Given the description of an element on the screen output the (x, y) to click on. 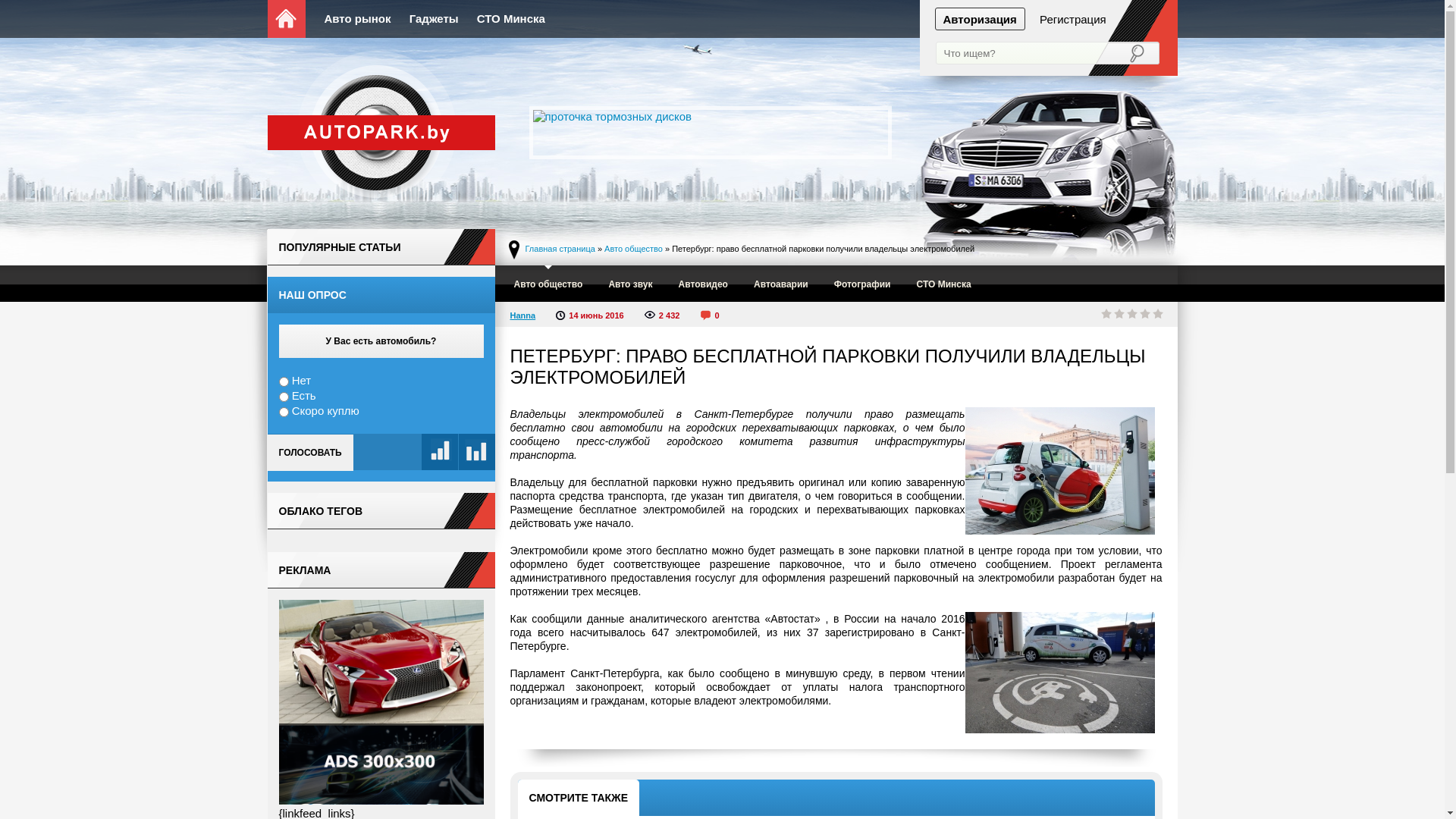
Search Element type: hover (1127, 53)
3 Element type: text (1132, 313)
1 Element type: text (1106, 313)
5 Element type: text (1157, 313)
Hanna Element type: text (522, 315)
2 Element type: text (1119, 313)
4 Element type: text (1145, 313)
